Given the description of an element on the screen output the (x, y) to click on. 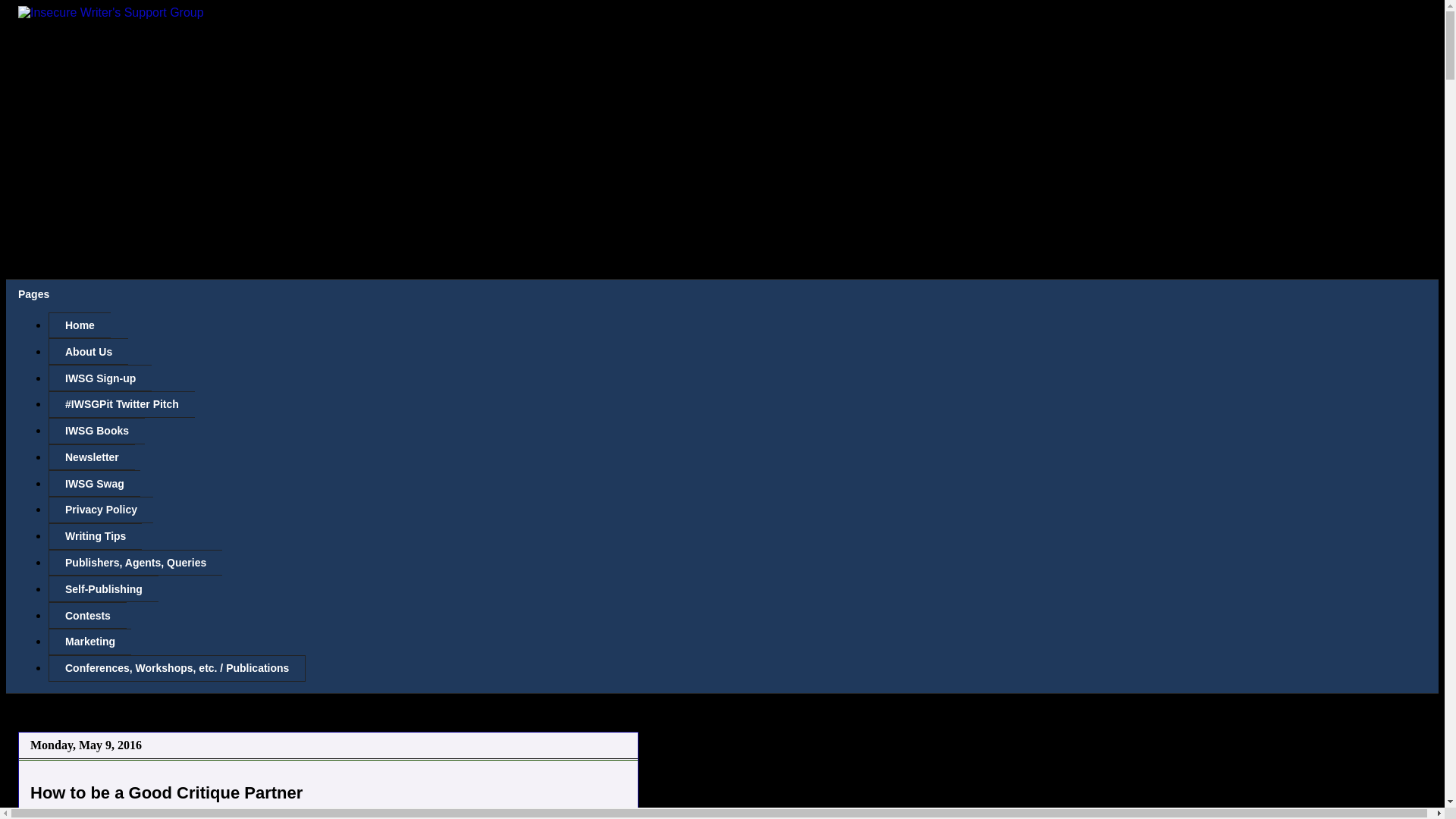
Writing Tips (94, 536)
About Us (88, 351)
Contests (87, 614)
Marketing (89, 641)
Self-Publishing (103, 588)
Home (79, 325)
Newsletter (91, 457)
IWSG Books (96, 430)
Privacy Policy (100, 509)
Publishers, Agents, Queries (135, 562)
IWSG Sign-up (99, 377)
IWSG Swag (93, 483)
